Given the description of an element on the screen output the (x, y) to click on. 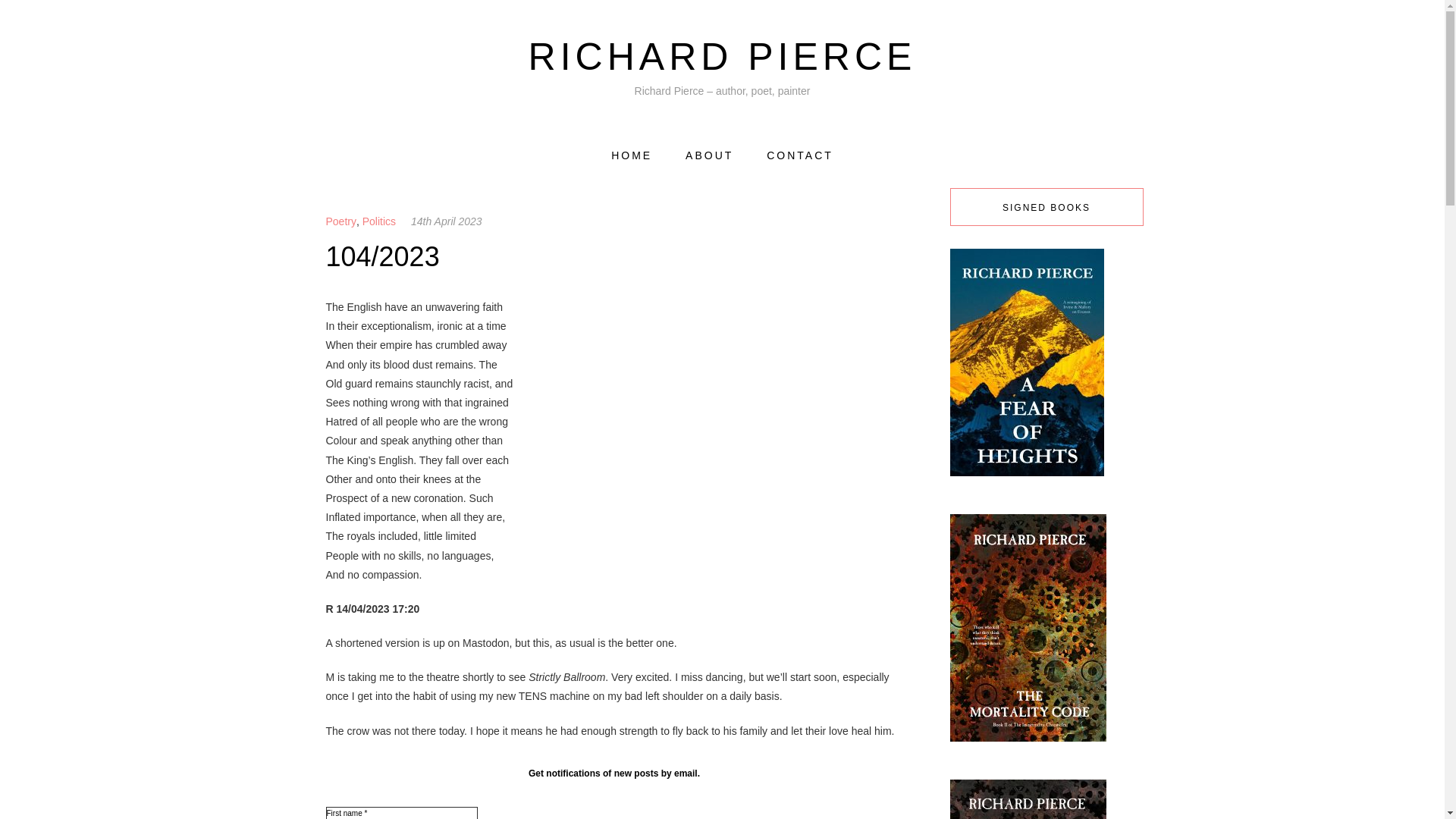
RICHARD PIERCE (722, 56)
CONTACT (799, 155)
14th April 2023 (445, 221)
First name (401, 812)
Politics (379, 221)
Poetry (341, 221)
